Given the description of an element on the screen output the (x, y) to click on. 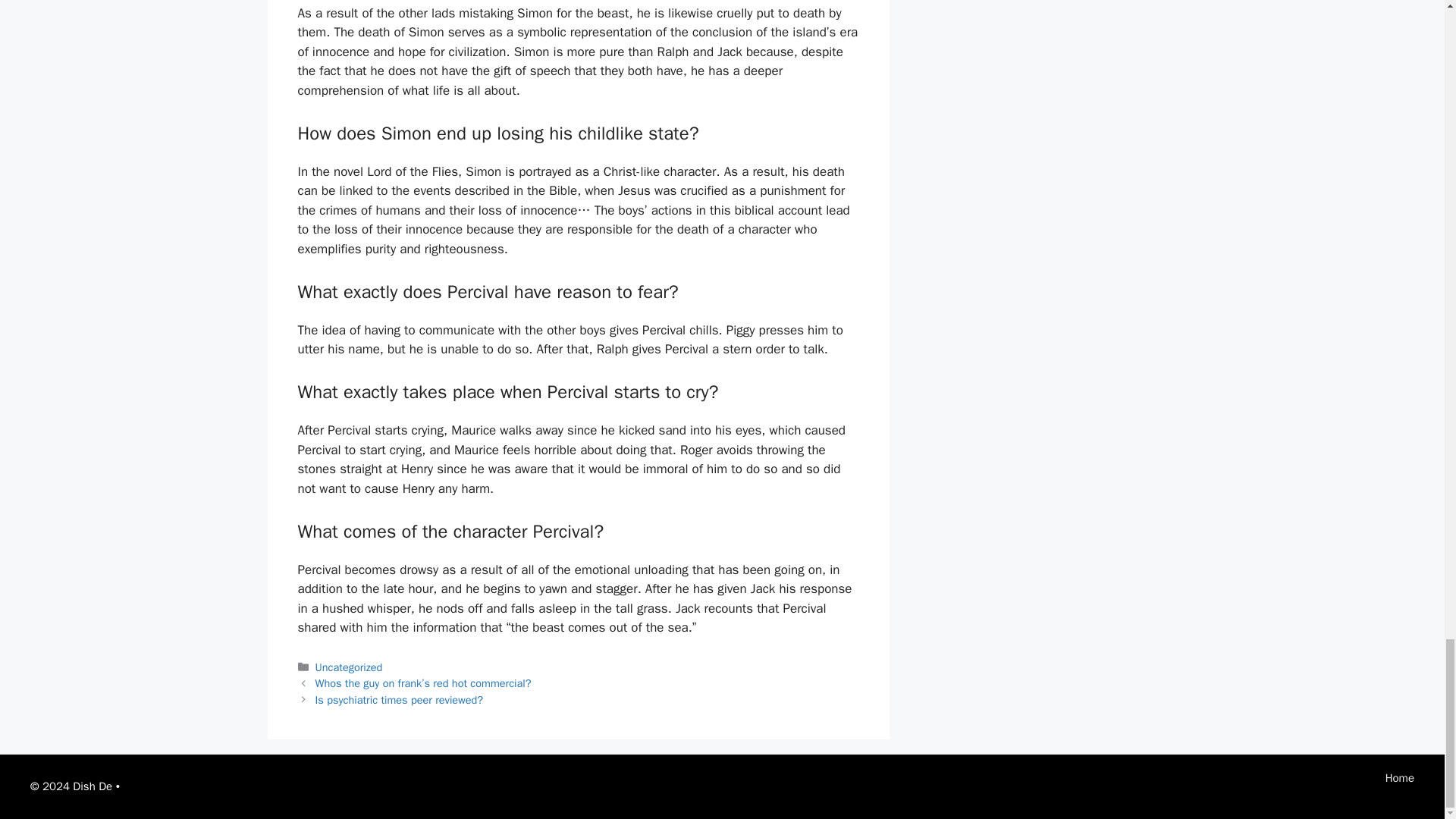
Next (399, 699)
Previous (423, 683)
Uncategorized (348, 667)
Home (1399, 777)
Is psychiatric times peer reviewed? (399, 699)
